Given the description of an element on the screen output the (x, y) to click on. 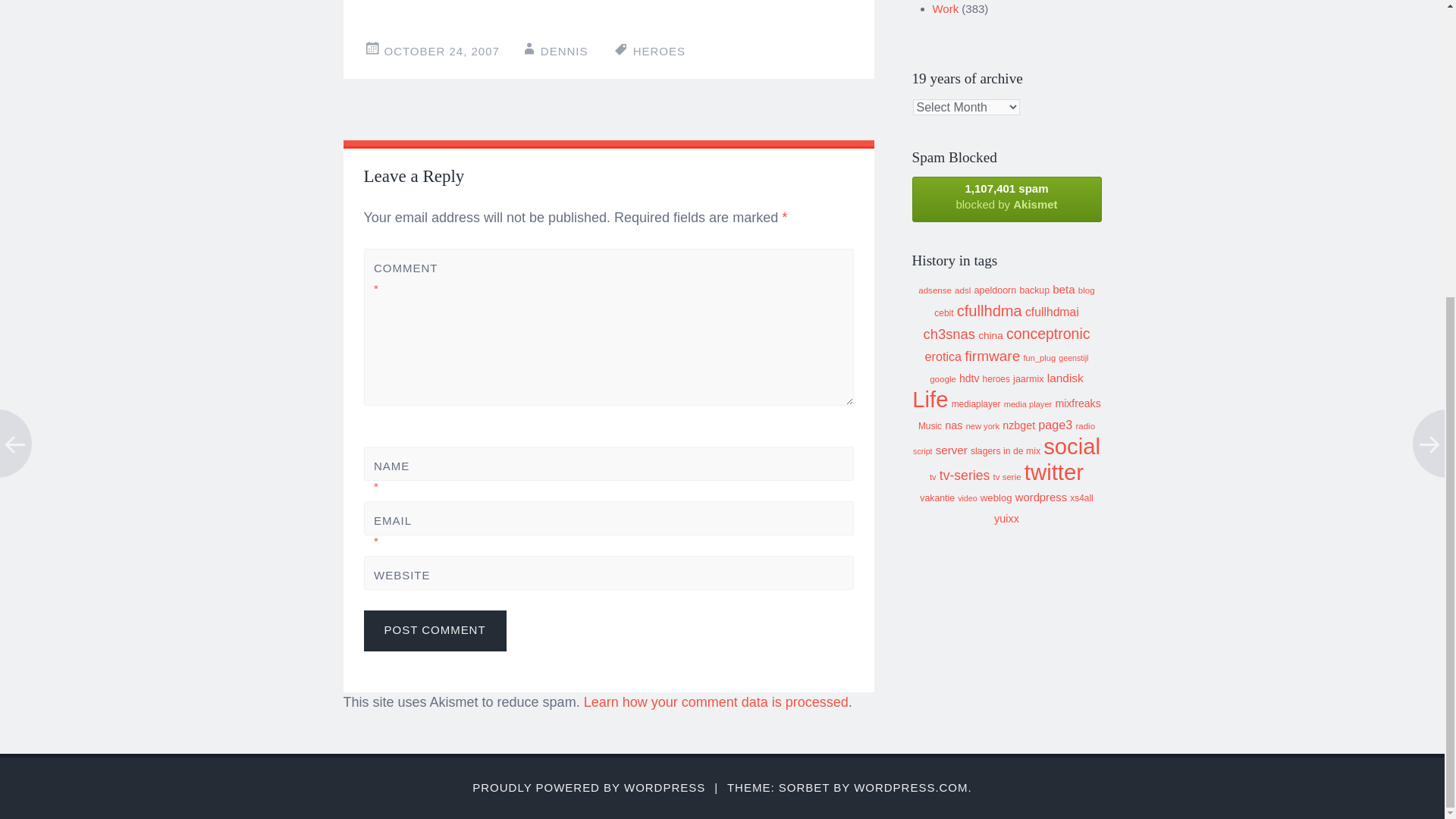
Work (946, 8)
Post Comment (435, 630)
Learn how your comment data is processed (715, 702)
cfullhdma (989, 310)
6:00 am (441, 51)
backup (1034, 290)
DENNIS (564, 51)
beta (1063, 288)
OCTOBER 24, 2007 (441, 51)
adsense (935, 289)
HEROES (659, 51)
Post Comment (435, 630)
View all posts by Dennis (564, 51)
apeldoorn (995, 290)
